Given the description of an element on the screen output the (x, y) to click on. 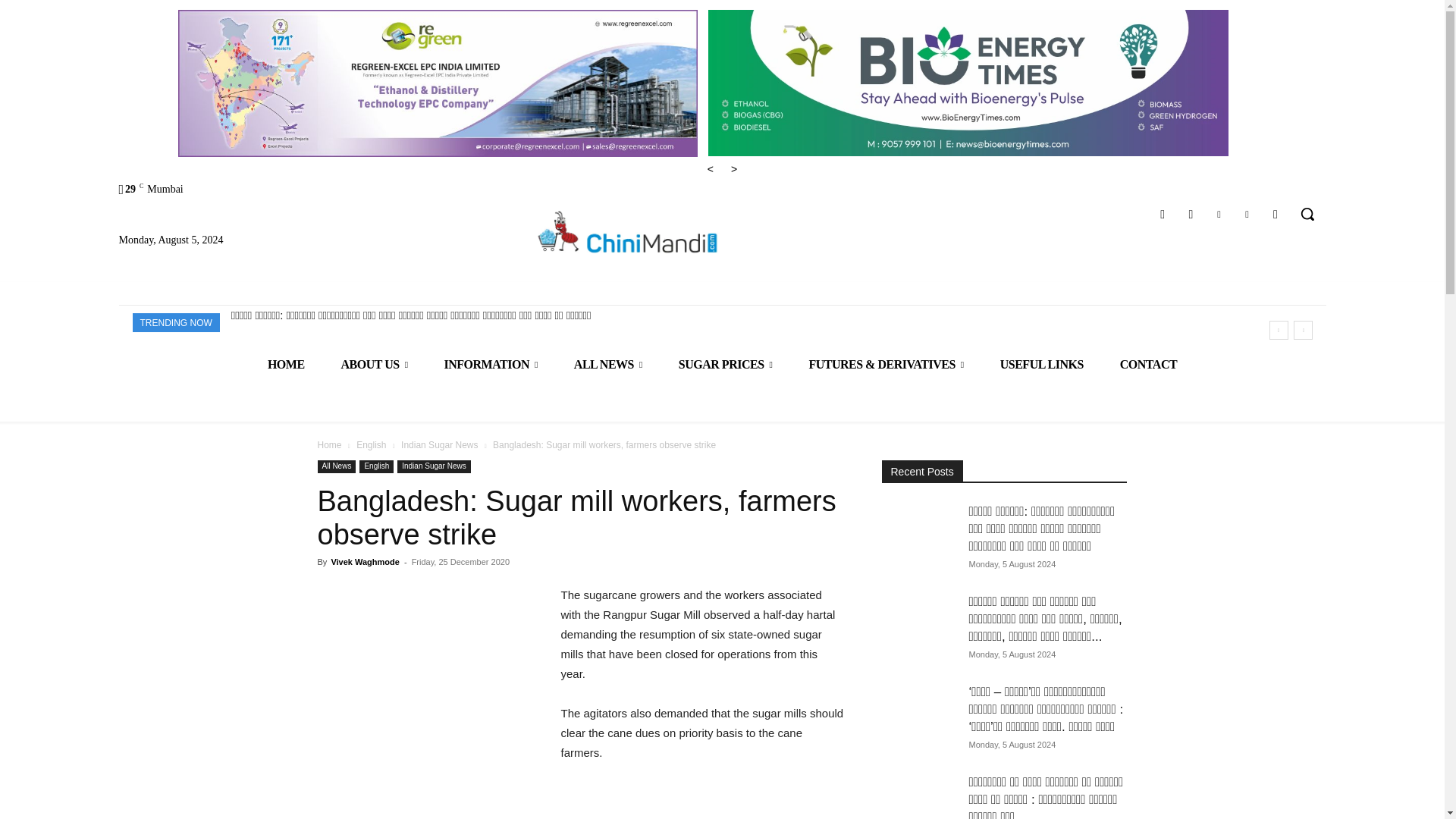
Instagram (1190, 213)
Linkedin (1218, 213)
Facebook (1163, 213)
Youtube (1275, 213)
Twitter (1246, 213)
